Given the description of an element on the screen output the (x, y) to click on. 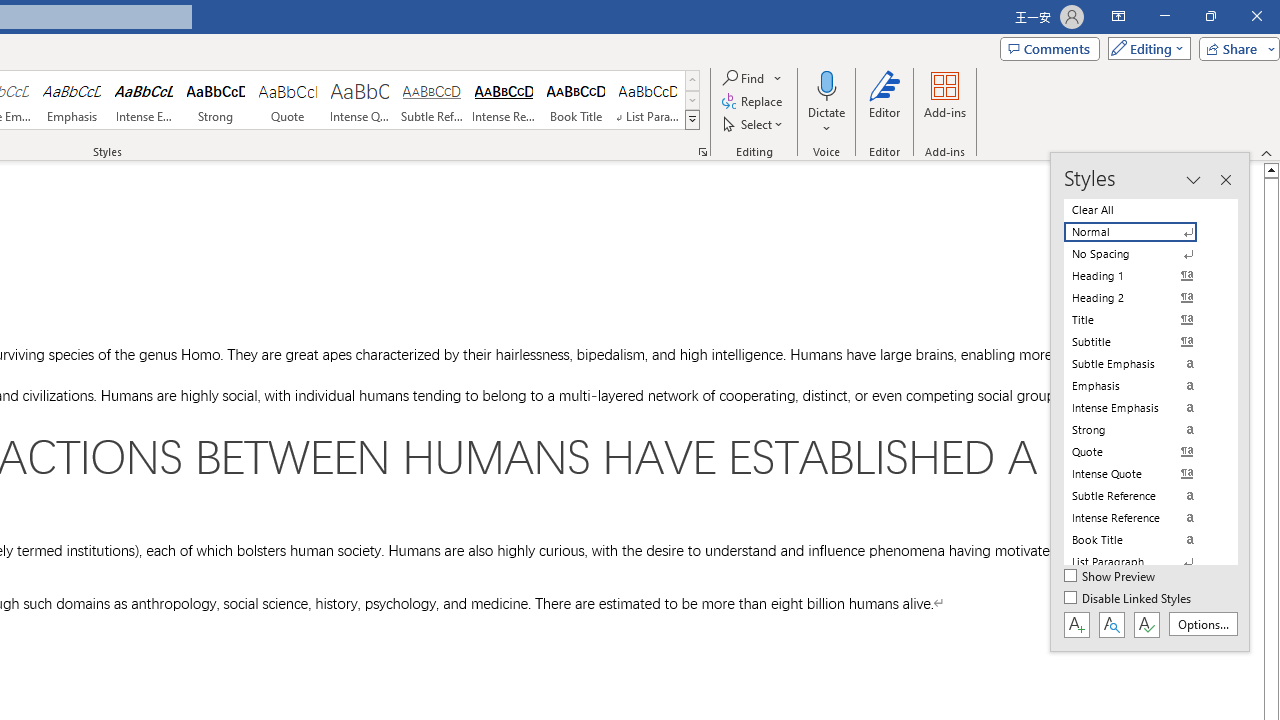
Subtle Emphasis (1142, 363)
